Given the description of an element on the screen output the (x, y) to click on. 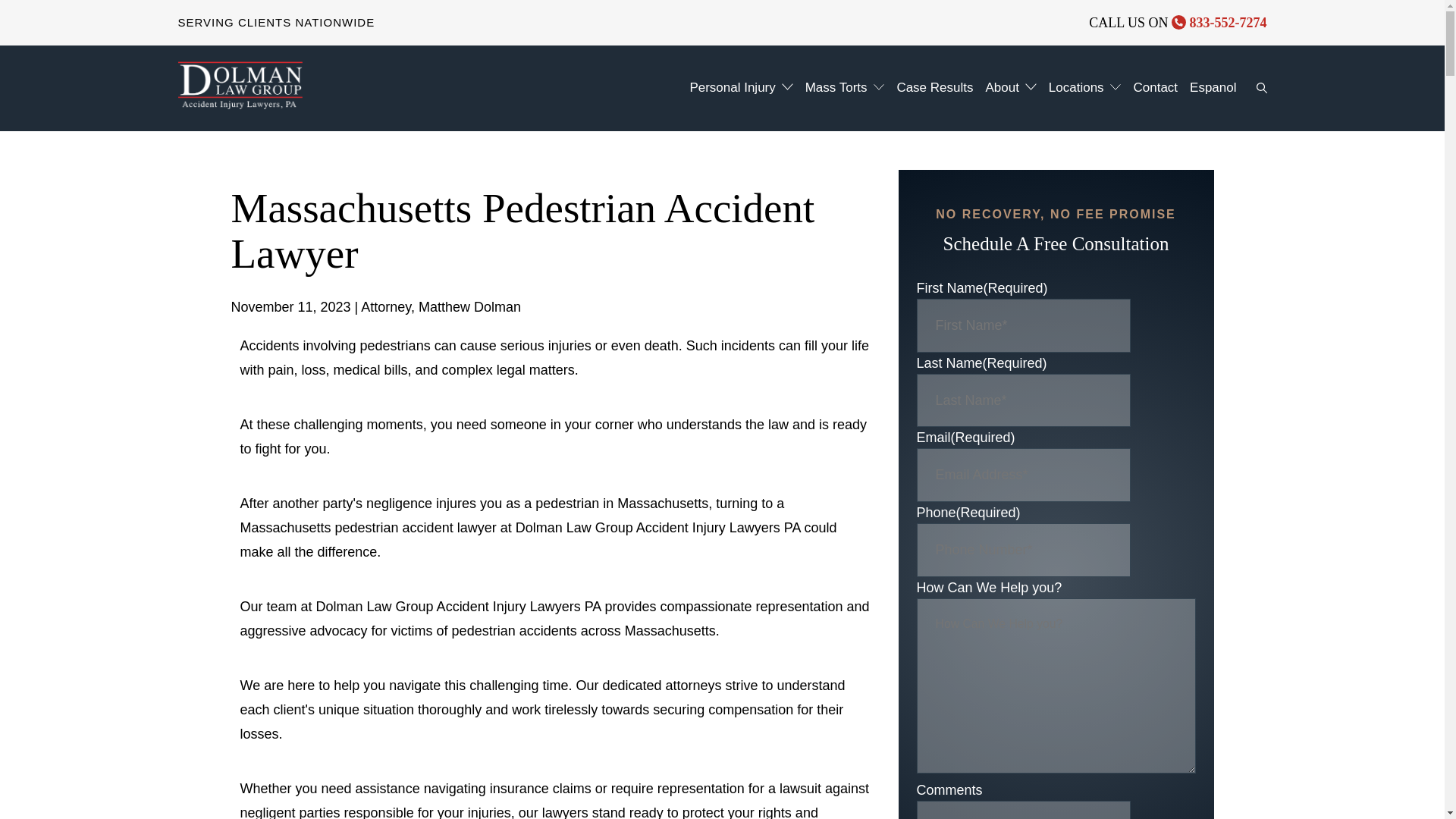
833-552-7274 (1219, 22)
Personal Injury (728, 87)
Mass Torts (833, 87)
